Given the description of an element on the screen output the (x, y) to click on. 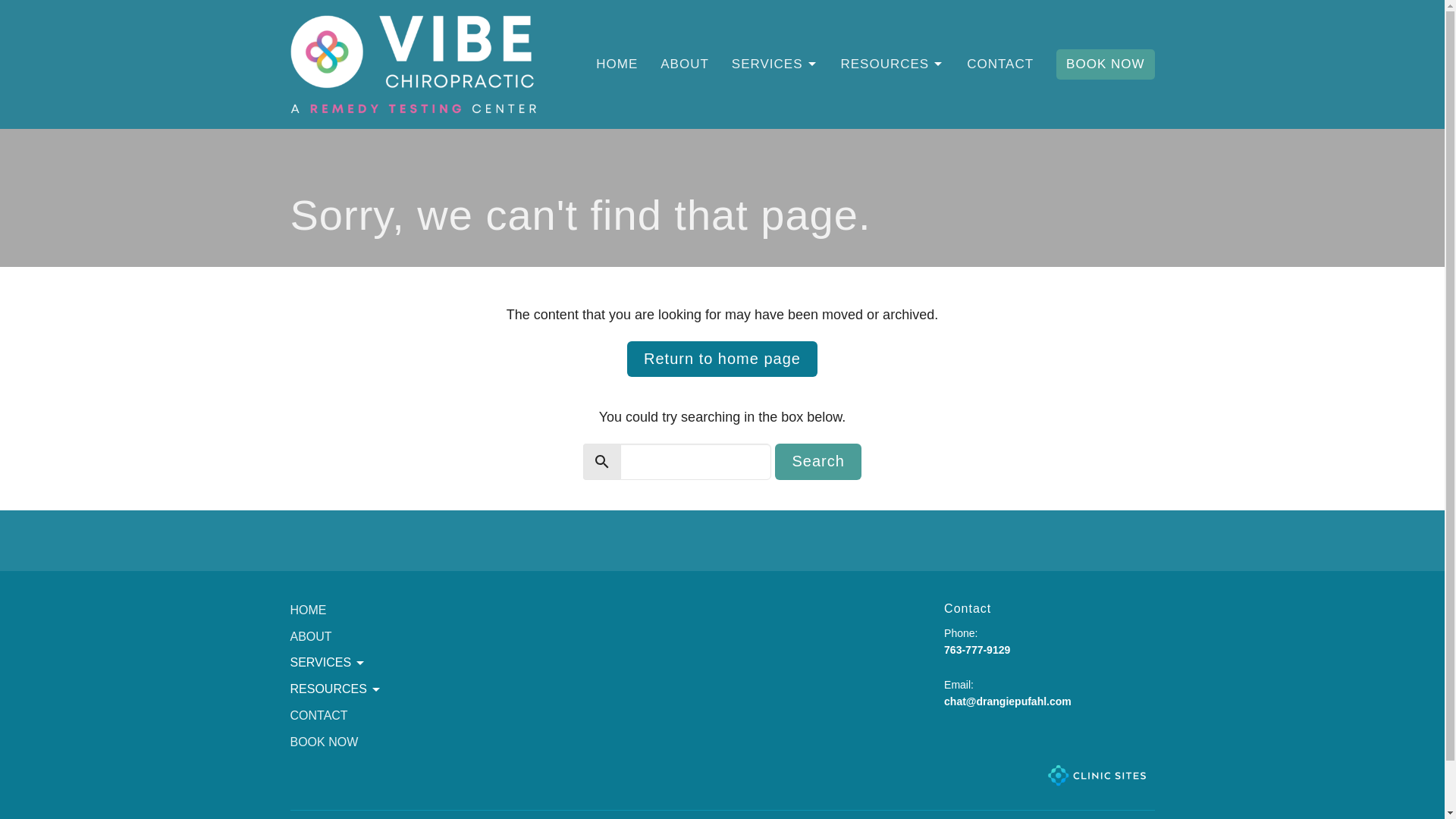
CONTACT (318, 715)
Search (817, 461)
HOME (616, 63)
BOOK NOW (1105, 64)
SERVICES (775, 63)
HOME (307, 609)
763-777-9129 (976, 649)
BOOK NOW (323, 741)
ABOUT (310, 635)
RESOURCES (891, 63)
